Given the description of an element on the screen output the (x, y) to click on. 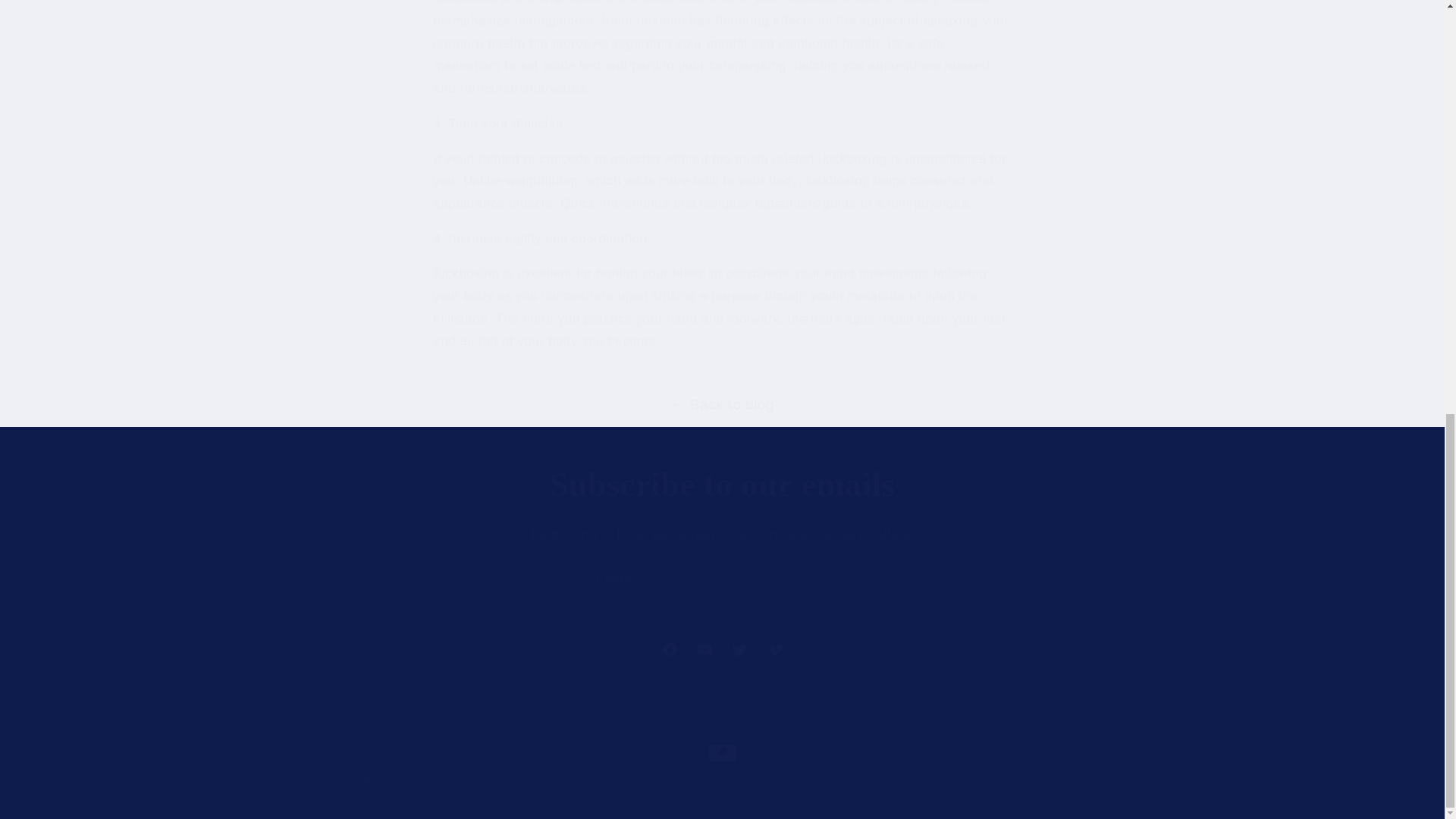
Twitter (739, 649)
Vimeo (774, 649)
YouTube (704, 649)
Subscribe to our emails (722, 485)
Email (722, 579)
Facebook (669, 649)
Powered by Shopify (721, 649)
My Store (408, 780)
